Given the description of an element on the screen output the (x, y) to click on. 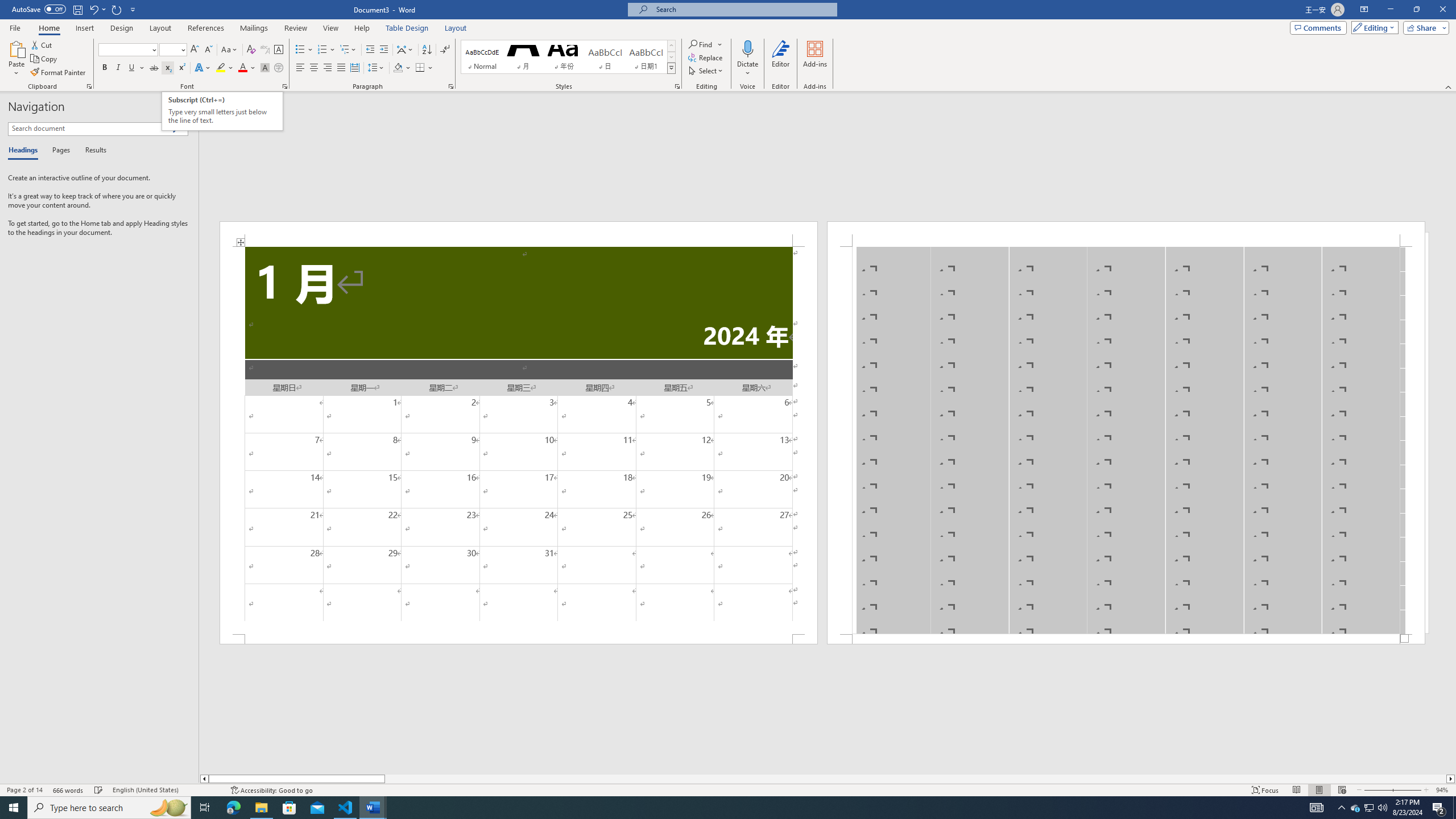
Clear Formatting (250, 49)
Undo Shrink Font (96, 9)
Headings (25, 150)
Sort... (426, 49)
Select (705, 69)
Accessibility Checker Accessibility: Good to go (271, 790)
Class: MsoCommandBar (728, 789)
Align Right (327, 67)
